Given the description of an element on the screen output the (x, y) to click on. 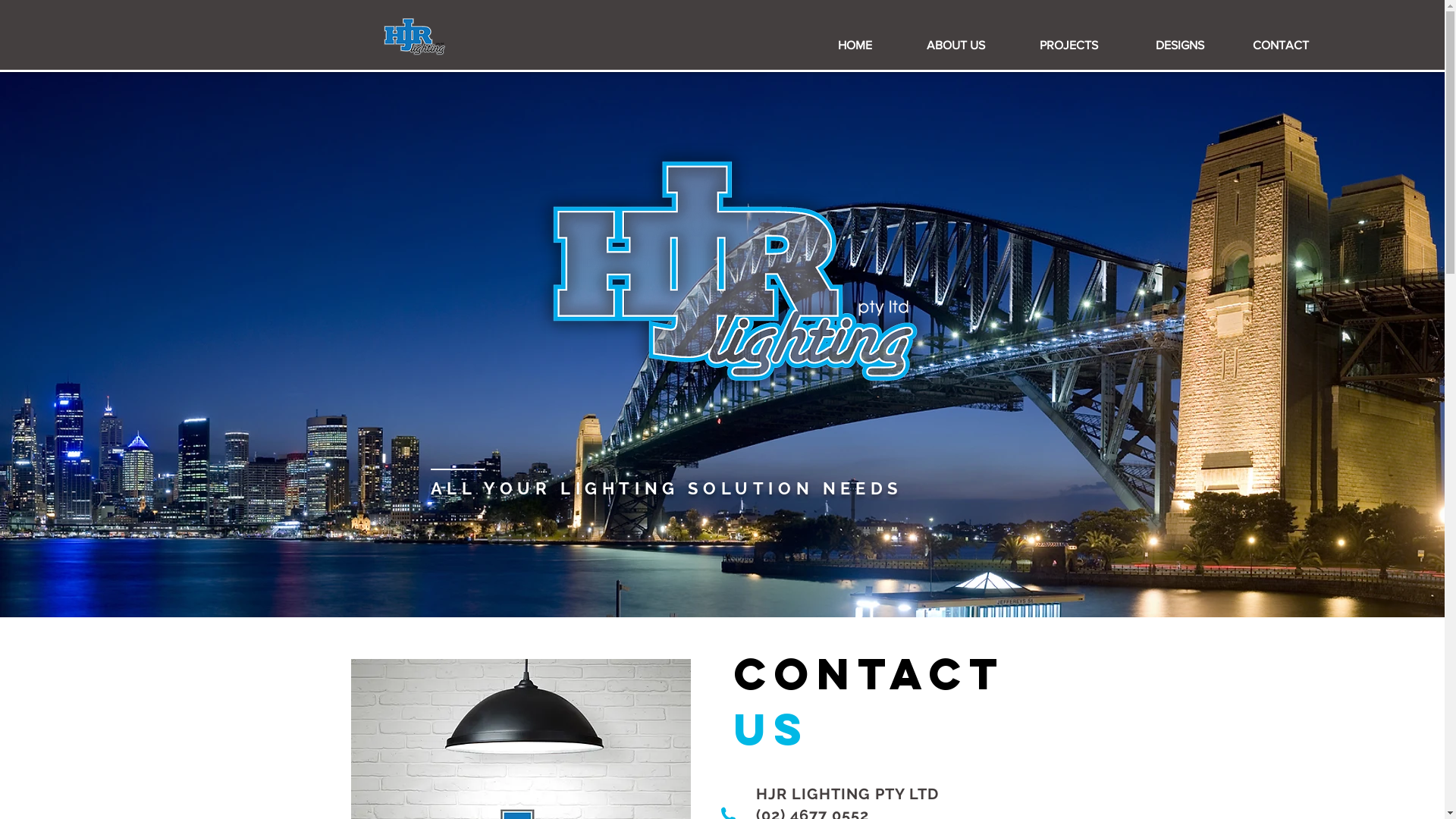
DESIGNS Element type: text (1179, 45)
ABOUT US Element type: text (955, 45)
CONTACT Element type: text (1280, 45)
HOME Element type: text (854, 45)
PROJECTS Element type: text (1068, 45)
